Given the description of an element on the screen output the (x, y) to click on. 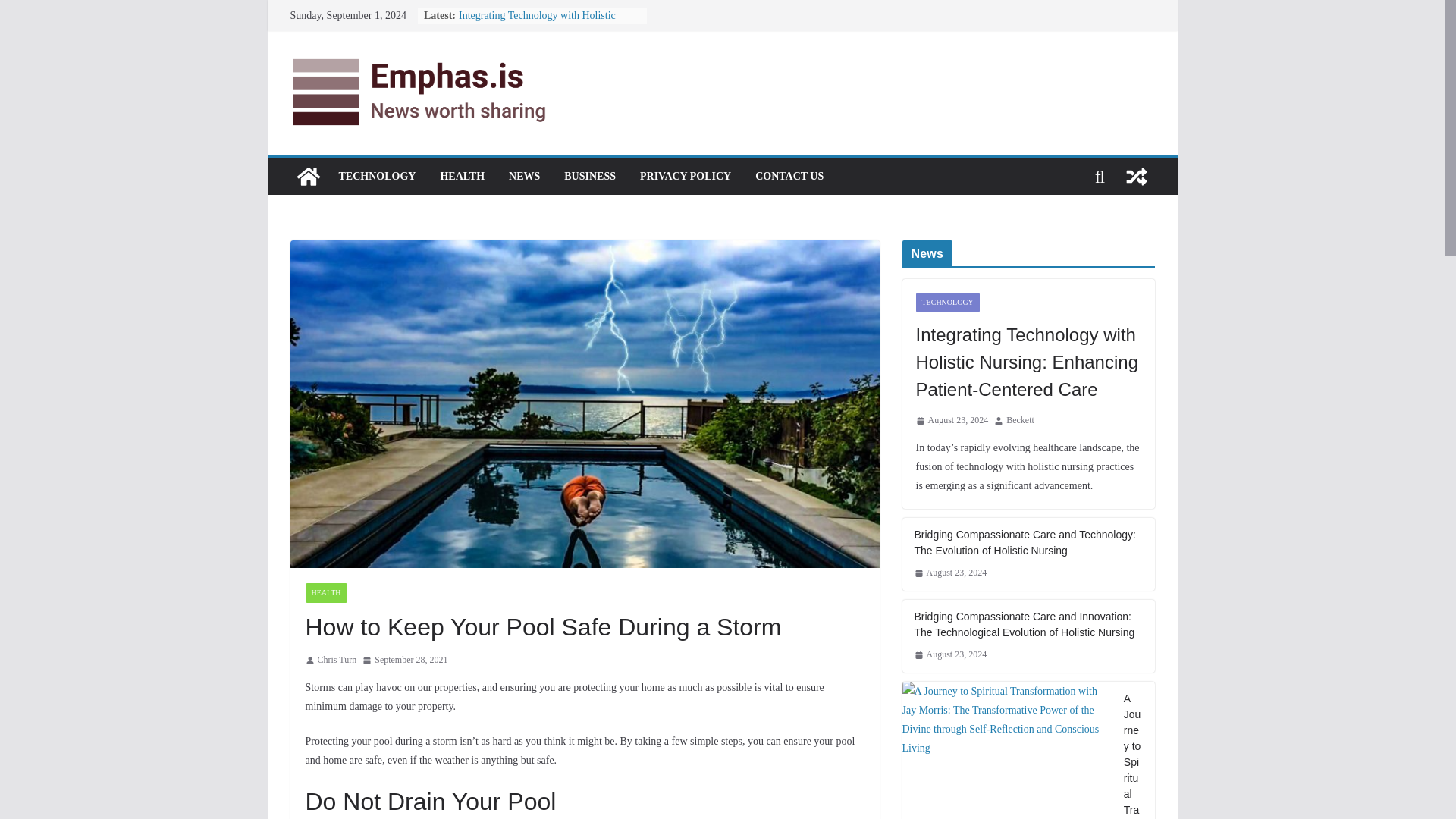
TECHNOLOGY (947, 302)
HEALTH (325, 592)
Chris Turn (336, 660)
BUSINESS (589, 175)
September 28, 2021 (404, 660)
HEALTH (461, 175)
August 23, 2024 (951, 420)
TECHNOLOGY (375, 175)
